Given the description of an element on the screen output the (x, y) to click on. 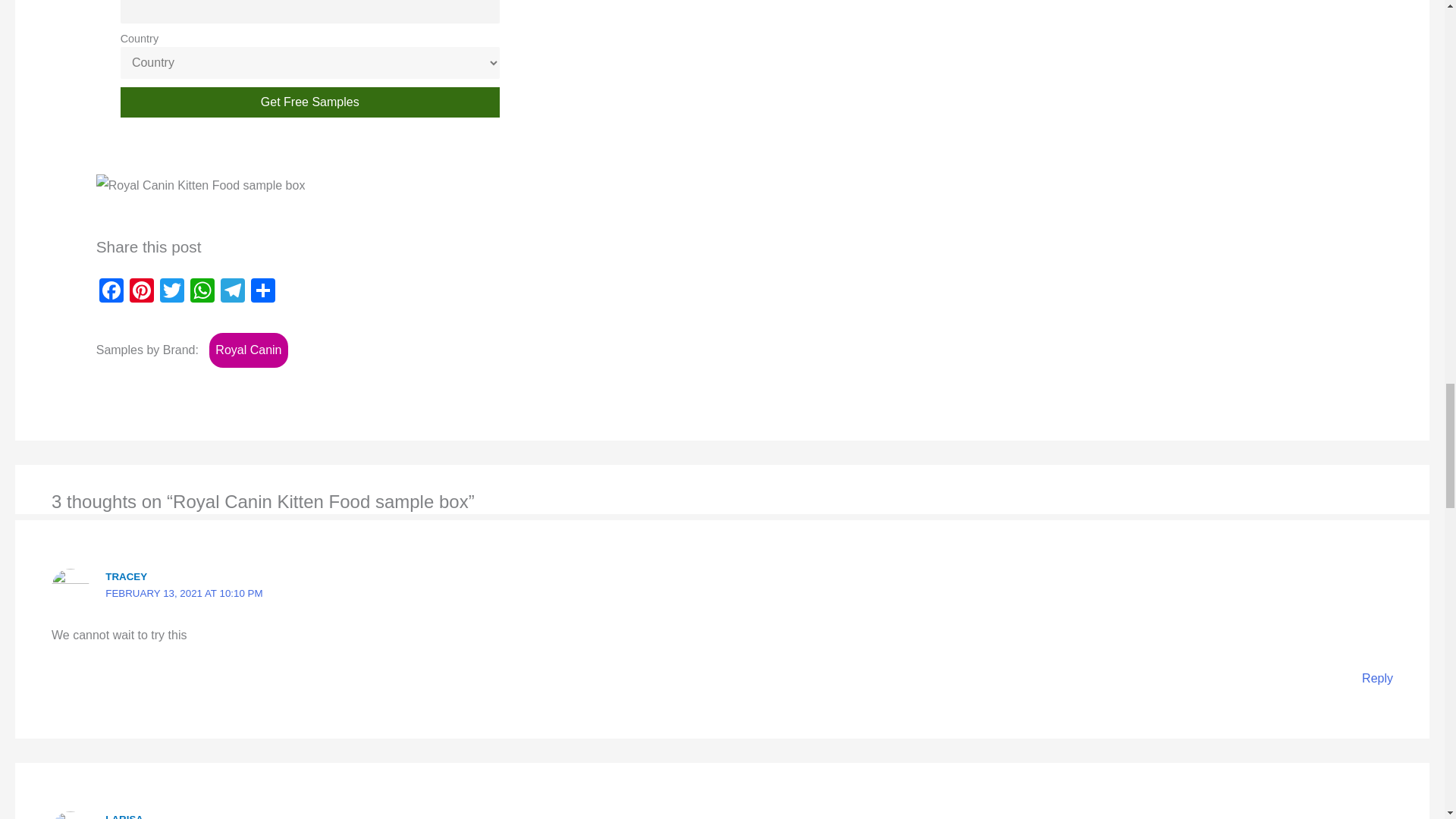
Get Free Samples (309, 101)
Twitter (172, 292)
Pinterest (141, 292)
Telegram (231, 292)
Facebook (111, 292)
WhatsApp (201, 292)
